Given the description of an element on the screen output the (x, y) to click on. 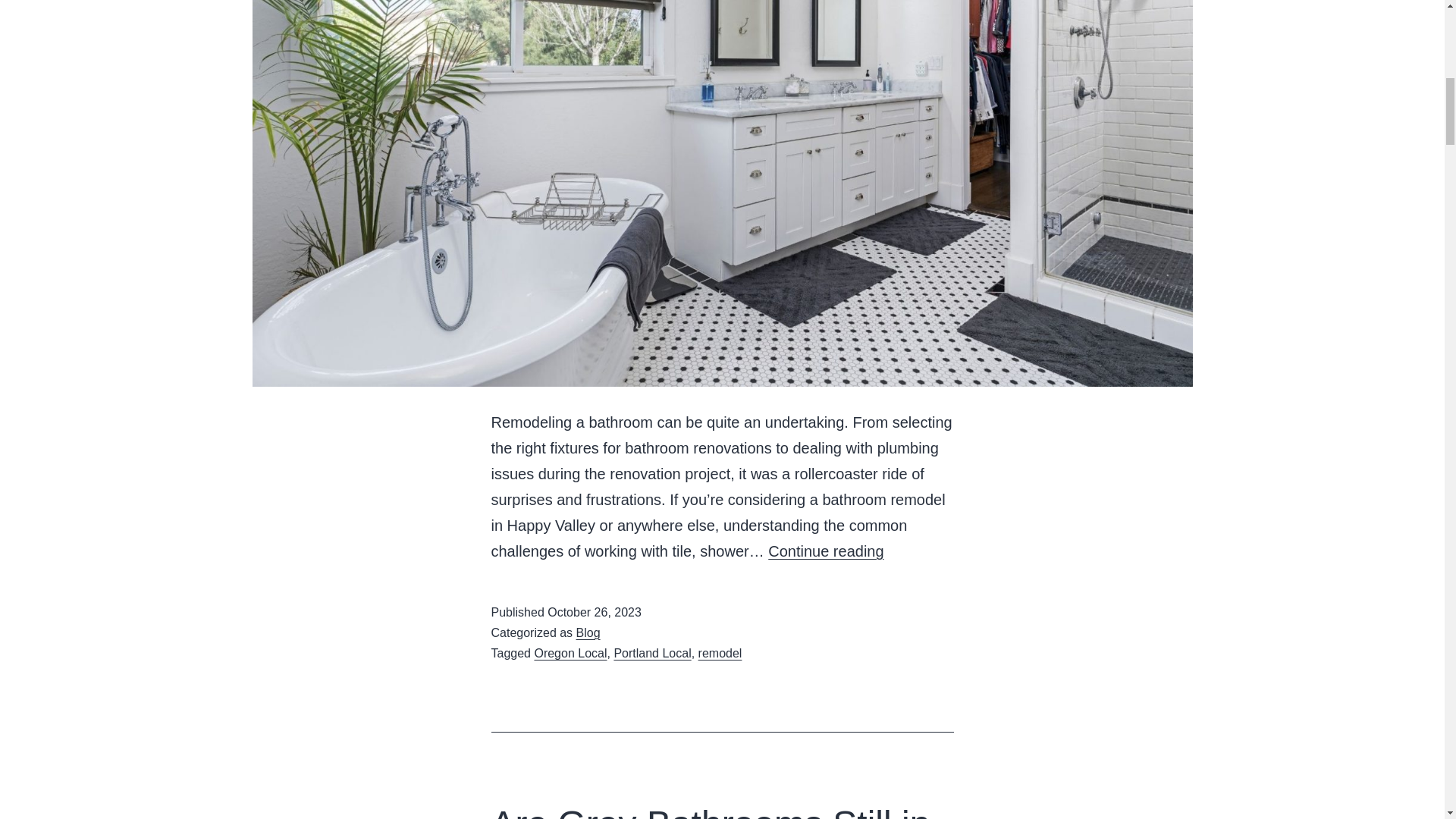
Oregon Local (570, 653)
Blog (587, 632)
remodel (720, 653)
Portland Local (651, 653)
